Given the description of an element on the screen output the (x, y) to click on. 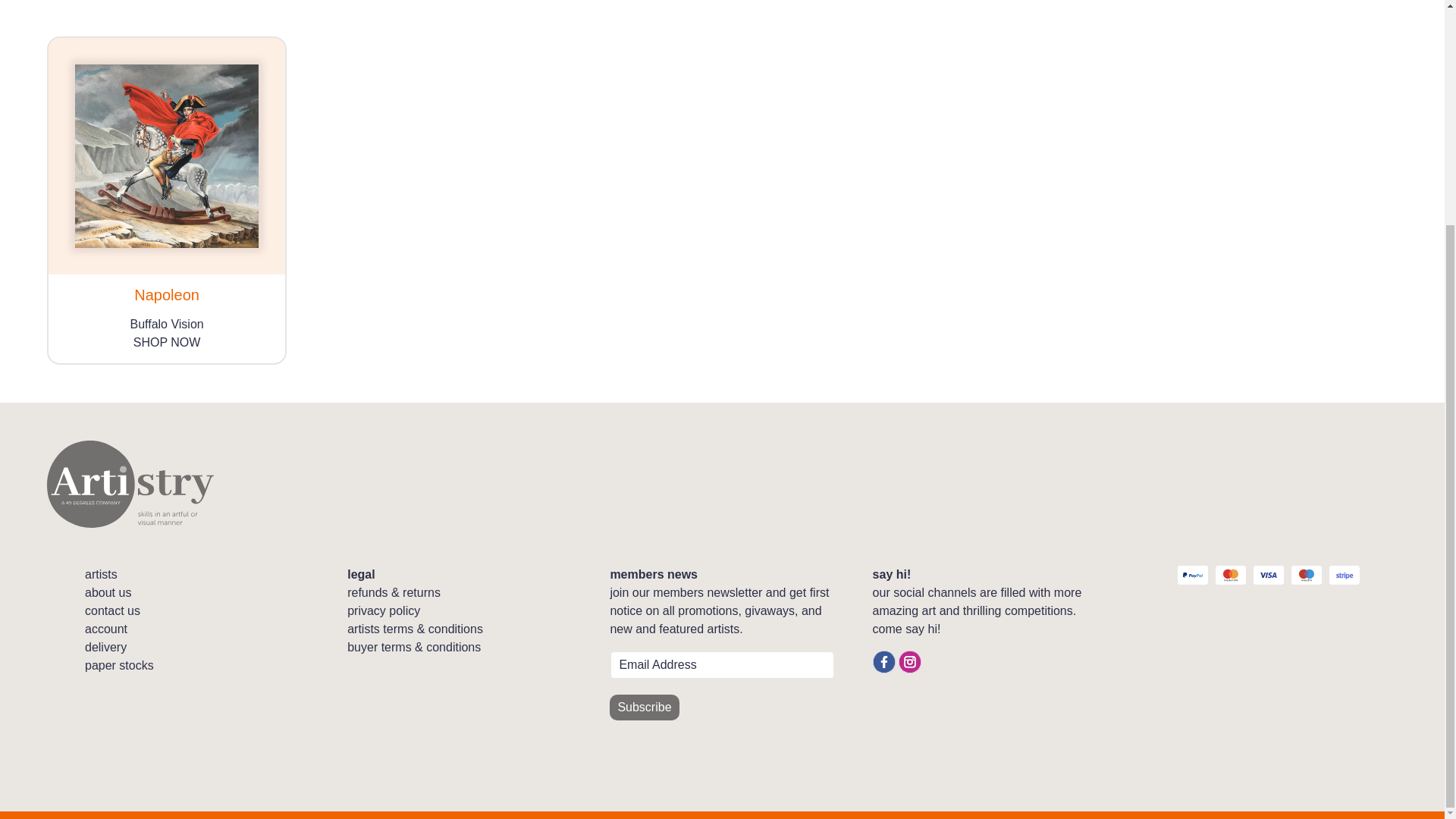
Subscribe (644, 707)
